Given the description of an element on the screen output the (x, y) to click on. 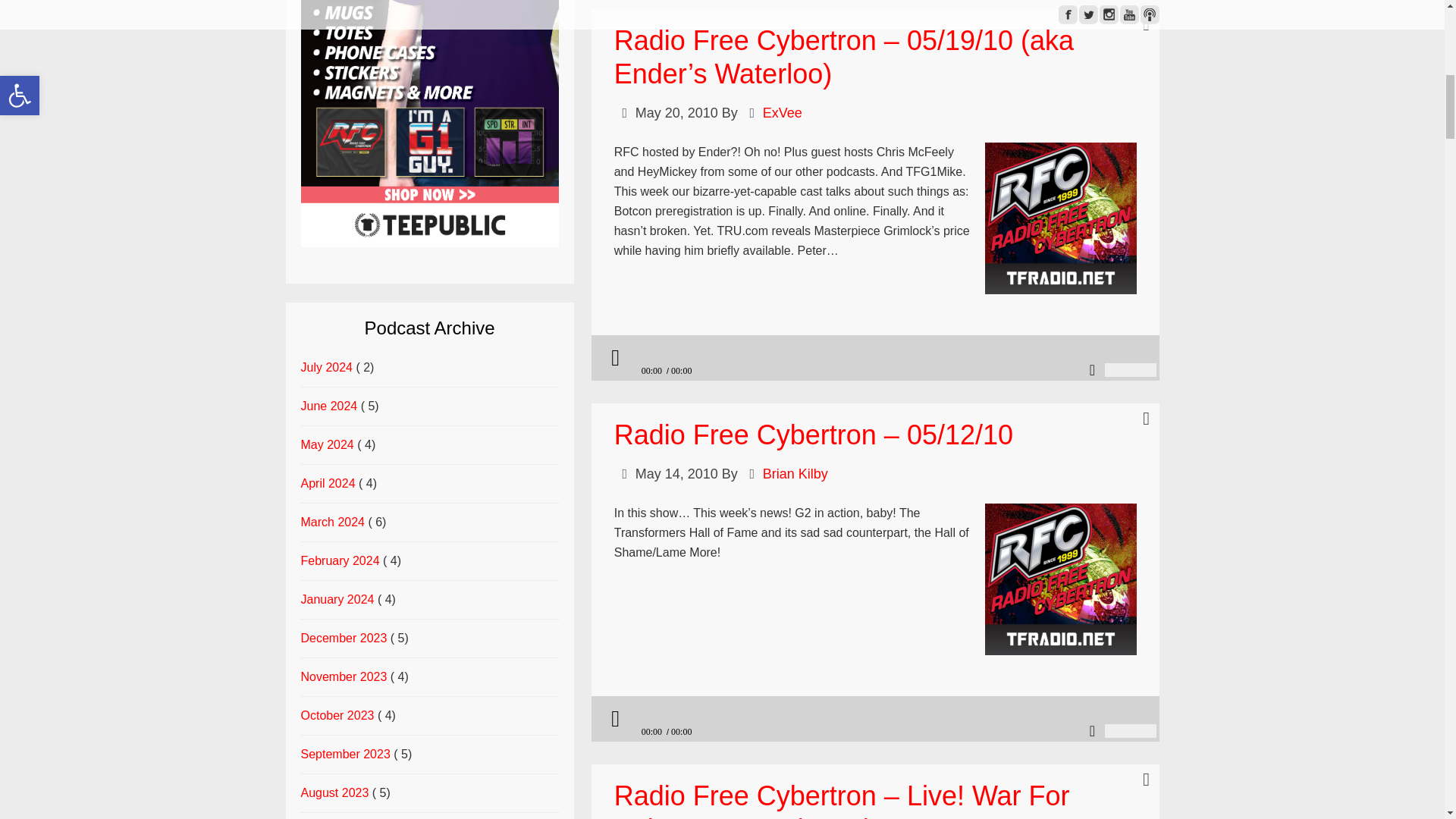
Mute (1091, 731)
Mute (1091, 369)
Play (614, 718)
Play (614, 357)
